Given the description of an element on the screen output the (x, y) to click on. 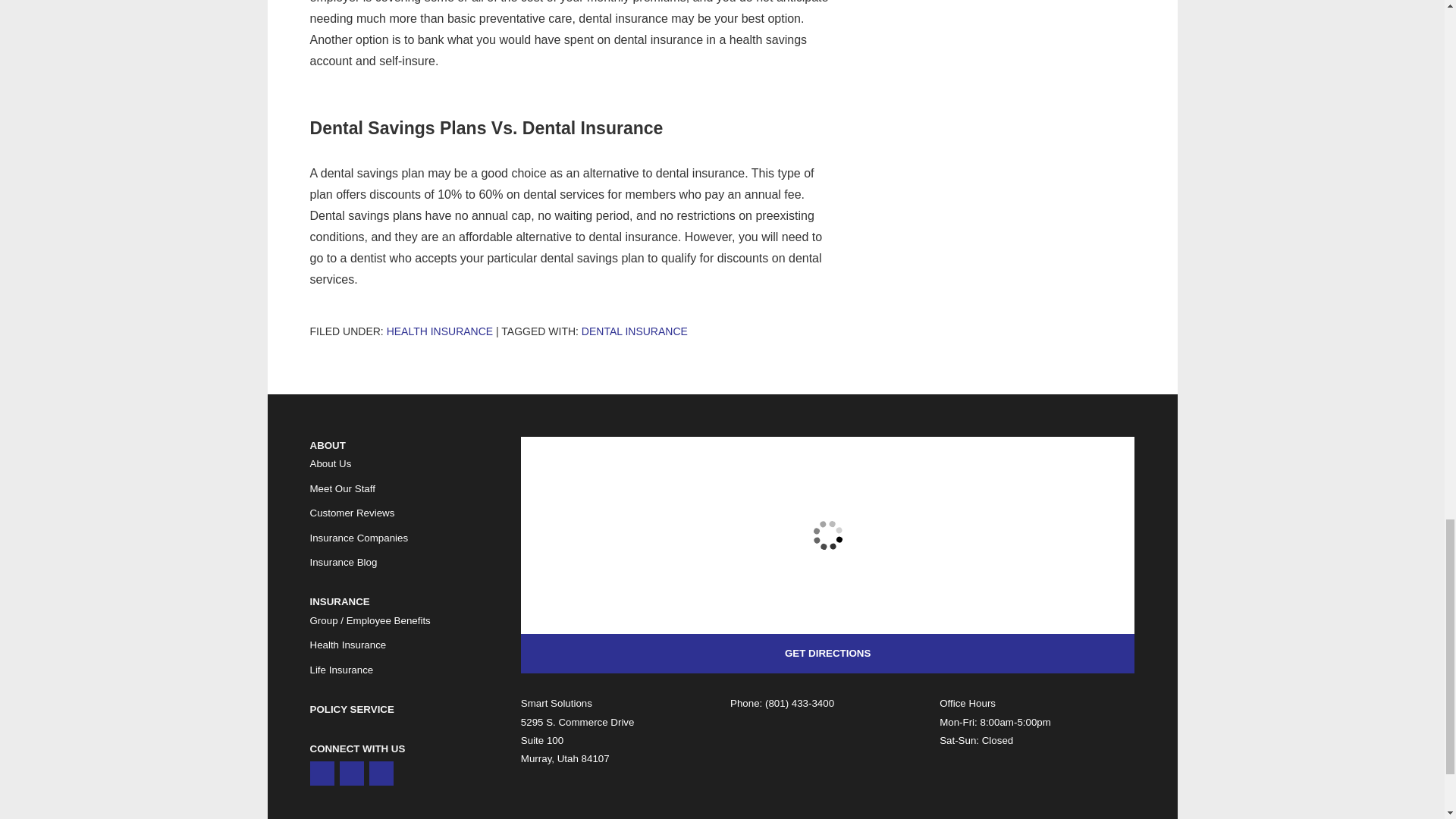
About Us (329, 463)
Meet Our Staff (341, 488)
Yelp (351, 773)
Dental Insurance (633, 331)
Google Maps (320, 773)
DENTAL INSURANCE (633, 331)
HEALTH INSURANCE (440, 331)
Health Insurance (440, 331)
Facebook (380, 773)
